Given the description of an element on the screen output the (x, y) to click on. 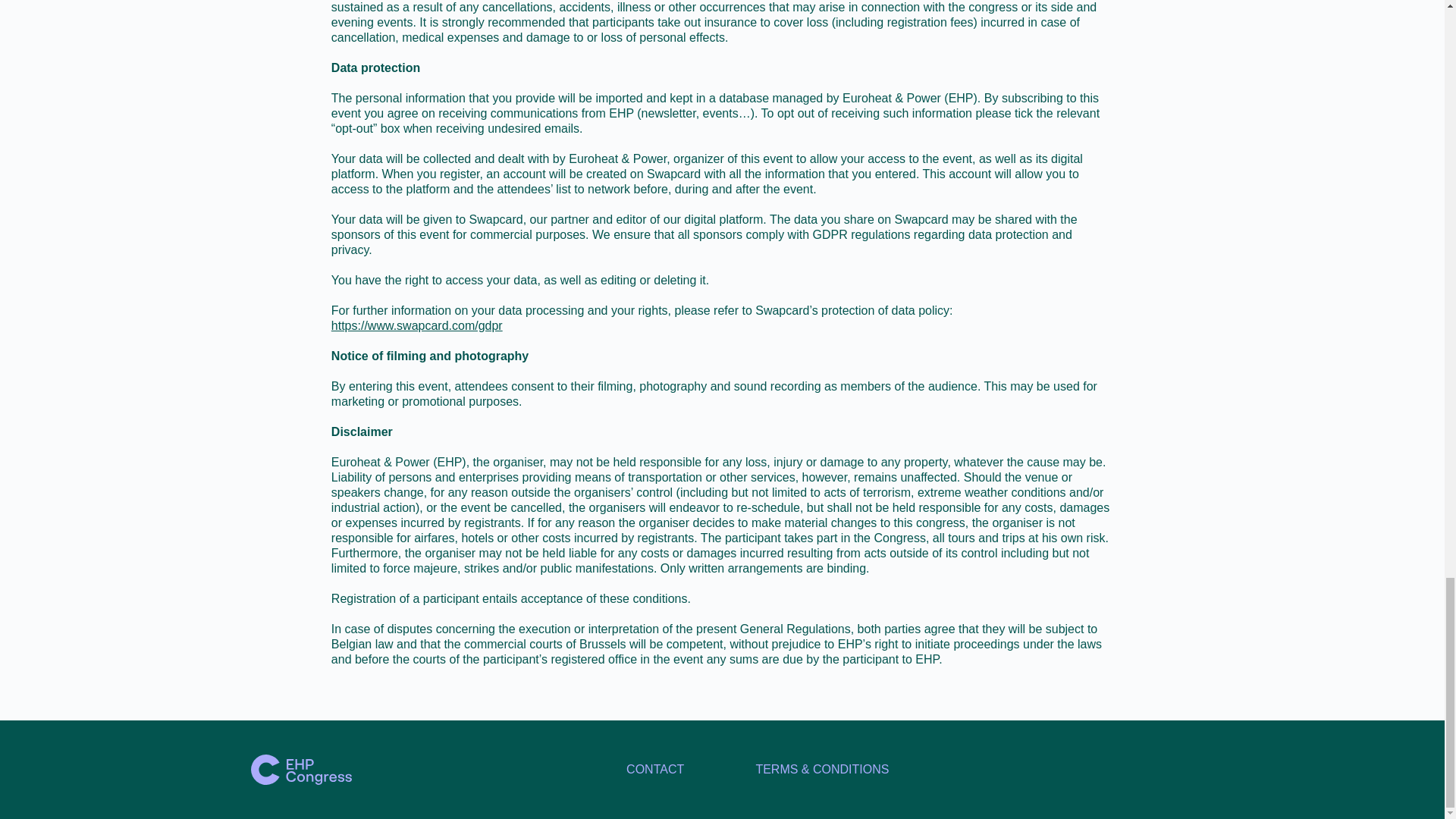
CONTACT (655, 768)
